Given the description of an element on the screen output the (x, y) to click on. 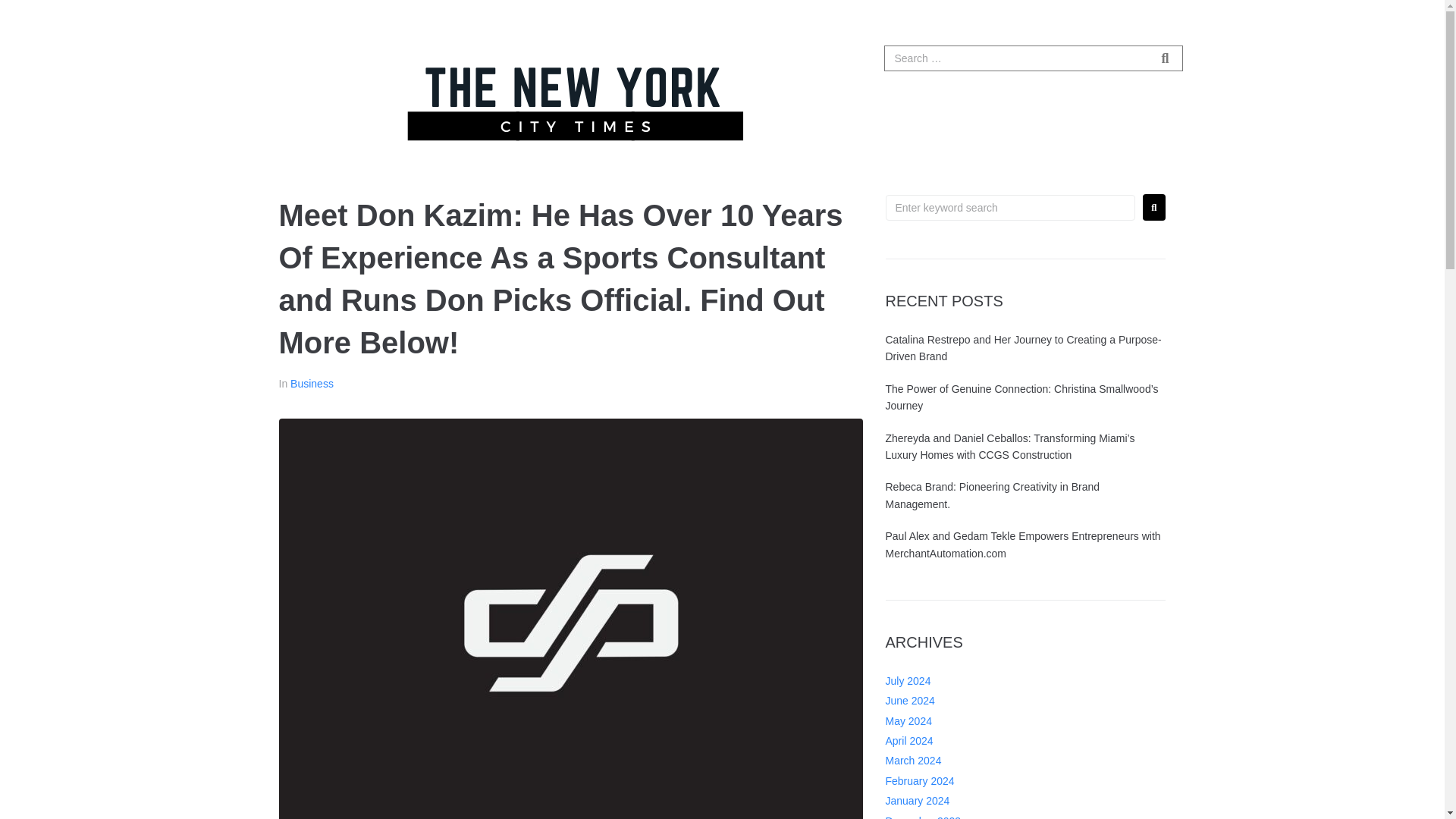
August 2024 (914, 715)
March 2024 (913, 814)
May 2024 (908, 775)
Rebeca Brand: Pioneering Creativity in Brand Management. (992, 578)
June 2024 (909, 754)
July 2024 (908, 734)
April 2024 (909, 794)
Business (311, 383)
